Given the description of an element on the screen output the (x, y) to click on. 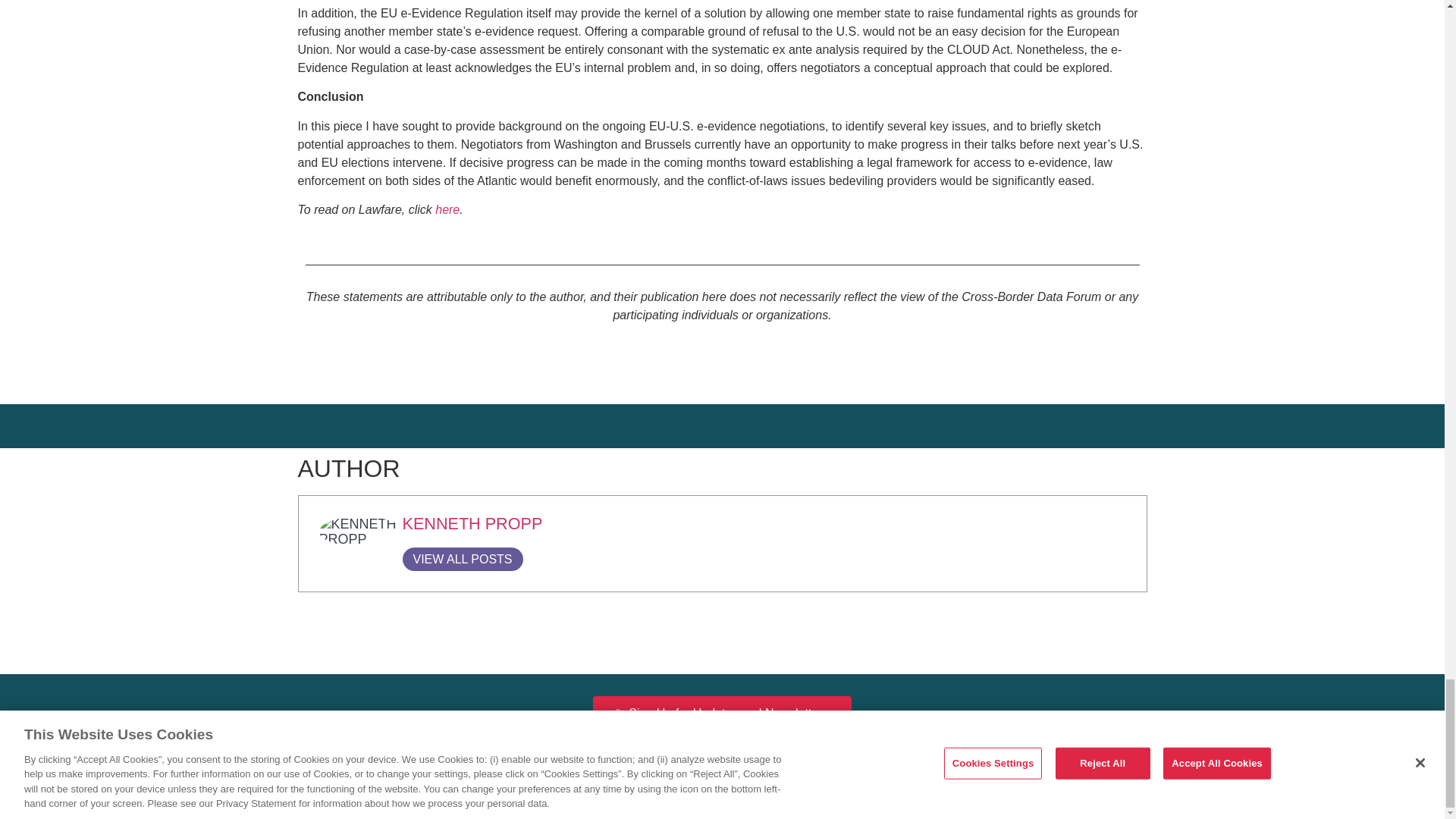
View all posts (461, 558)
Kenneth Propp (471, 523)
